Given the description of an element on the screen output the (x, y) to click on. 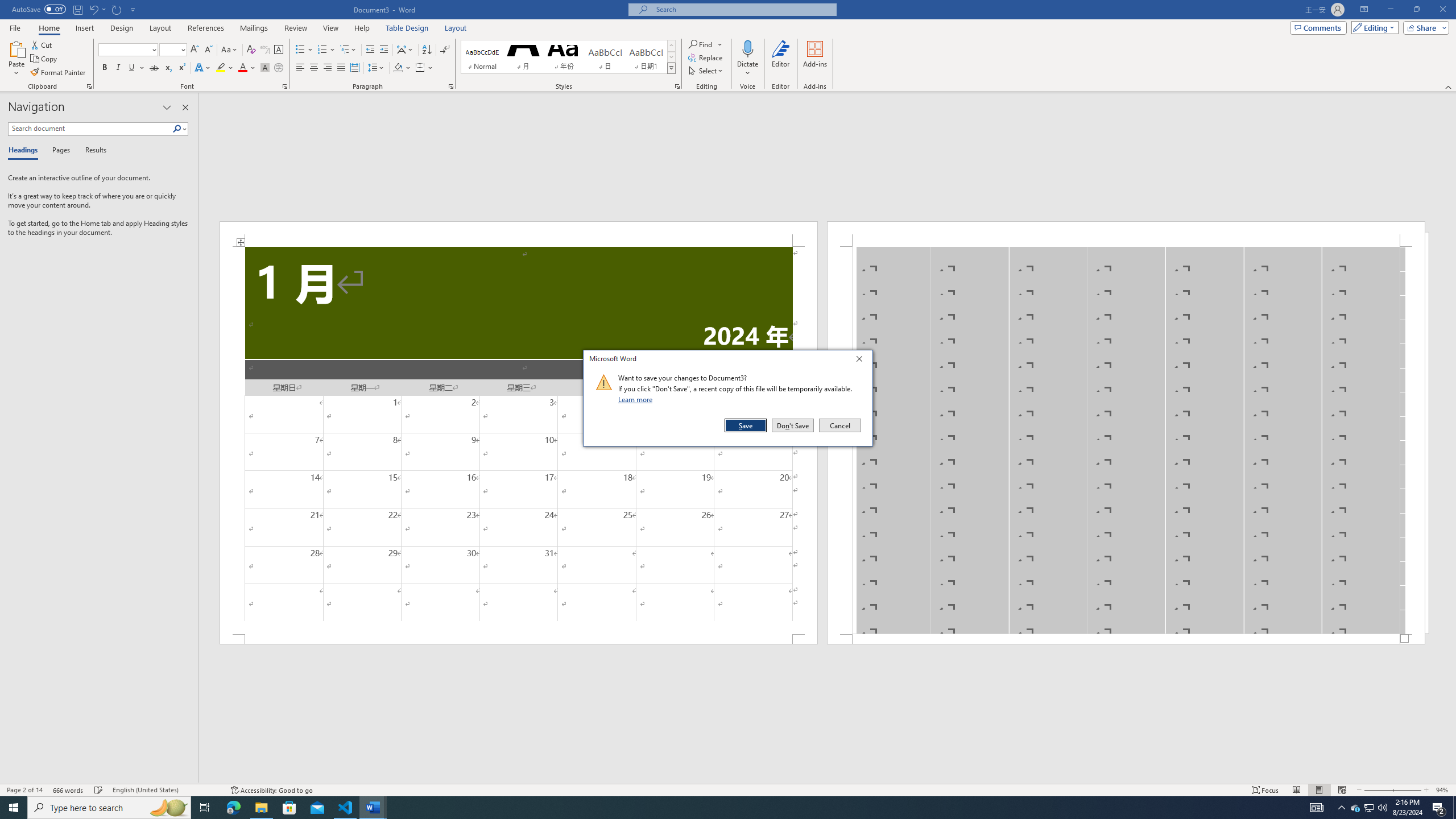
Microsoft search (742, 9)
Home (48, 28)
Shading RGB(0, 0, 0) (397, 67)
Web Layout (1342, 790)
Font Color (246, 67)
